Given the description of an element on the screen output the (x, y) to click on. 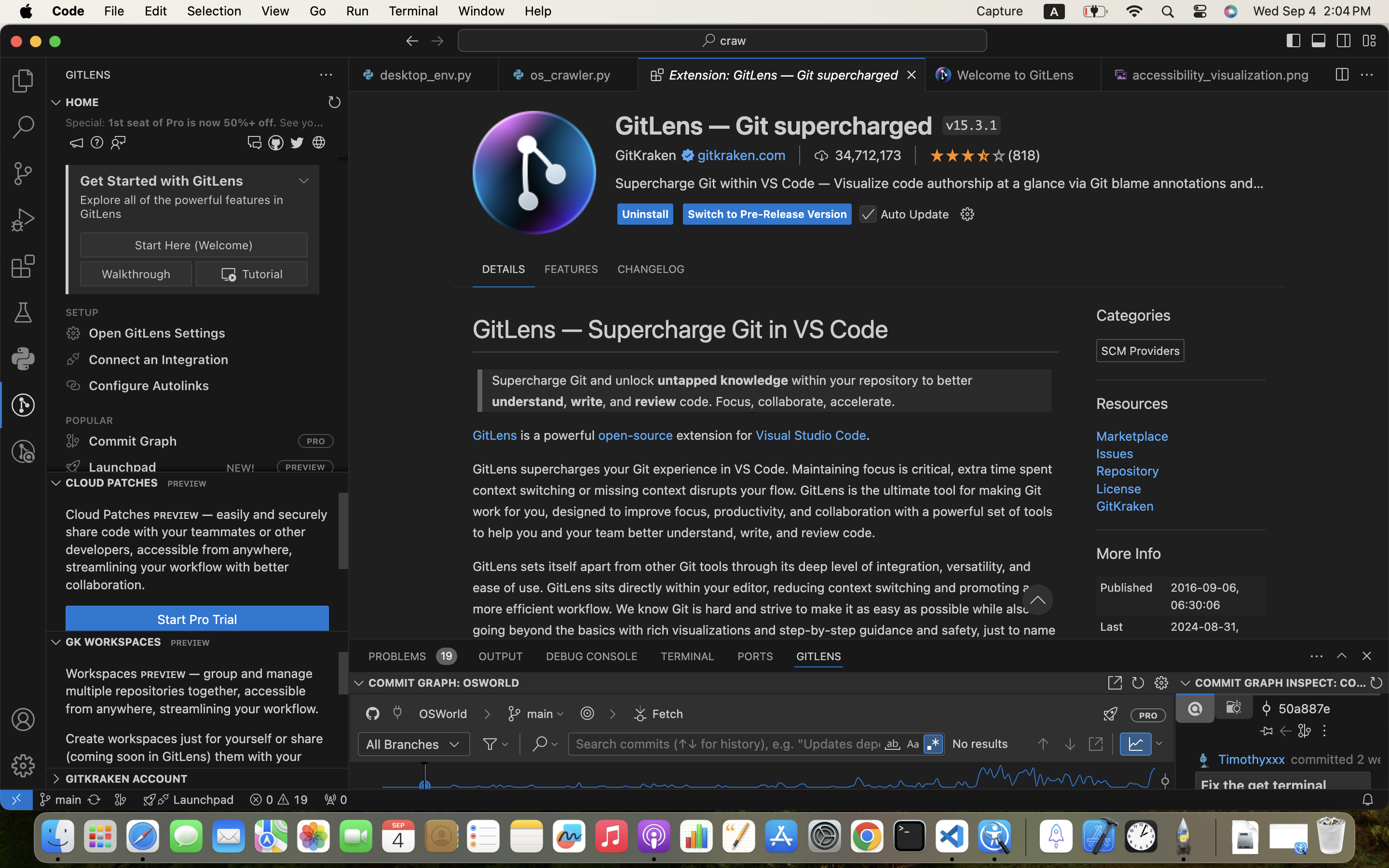
Commits Element type: AXStaticText (1097, 621)
 Element type: AXStaticText (1053, 621)
License Element type: AXStaticText (1119, 488)
 Element type: AXStaticText (999, 154)
 Element type: AXGroup (23, 80)
